Given the description of an element on the screen output the (x, y) to click on. 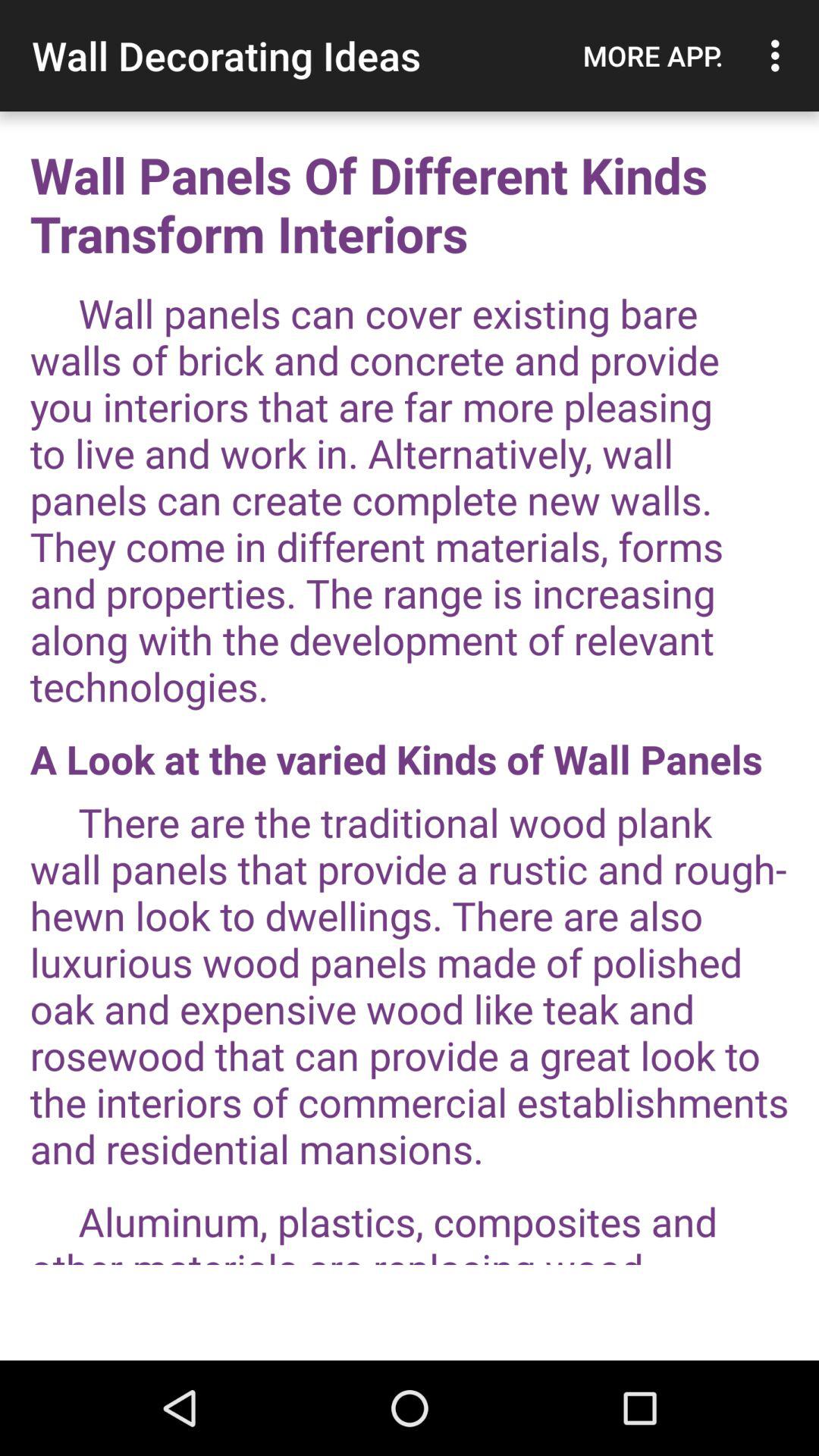
turn on the more app. item (653, 55)
